Given the description of an element on the screen output the (x, y) to click on. 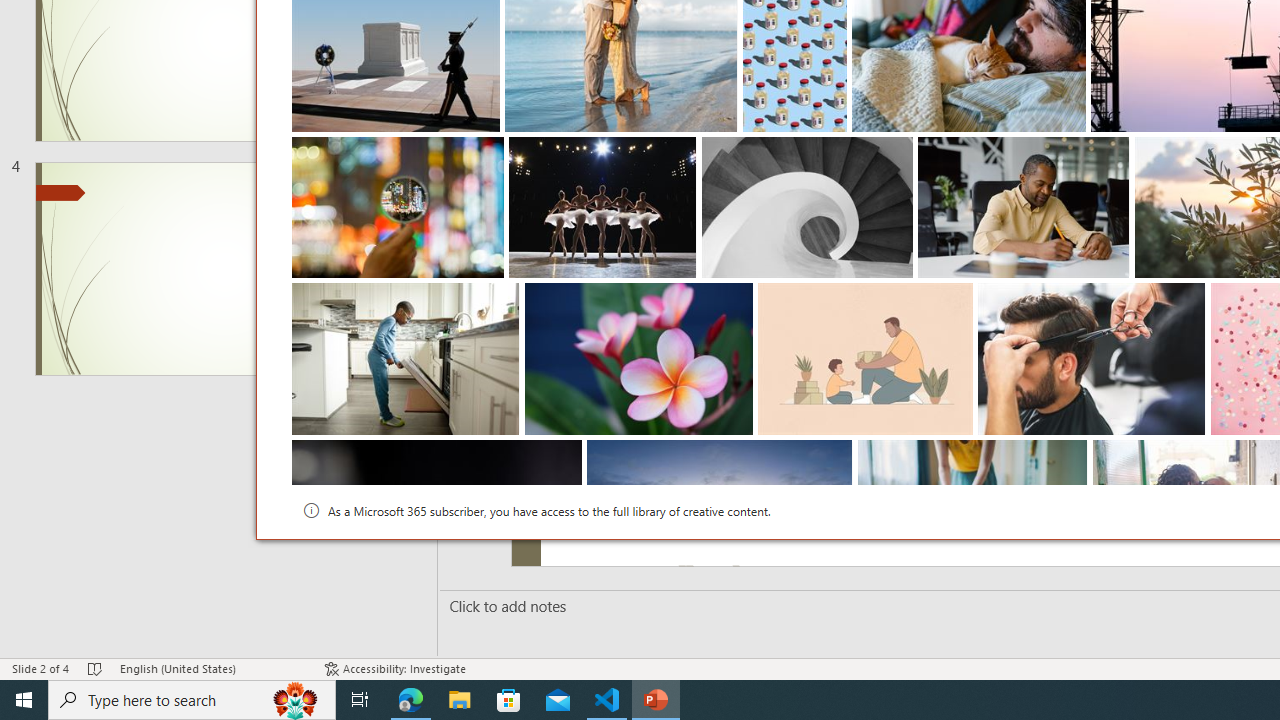
Thumbnail (1073, 454)
